Given the description of an element on the screen output the (x, y) to click on. 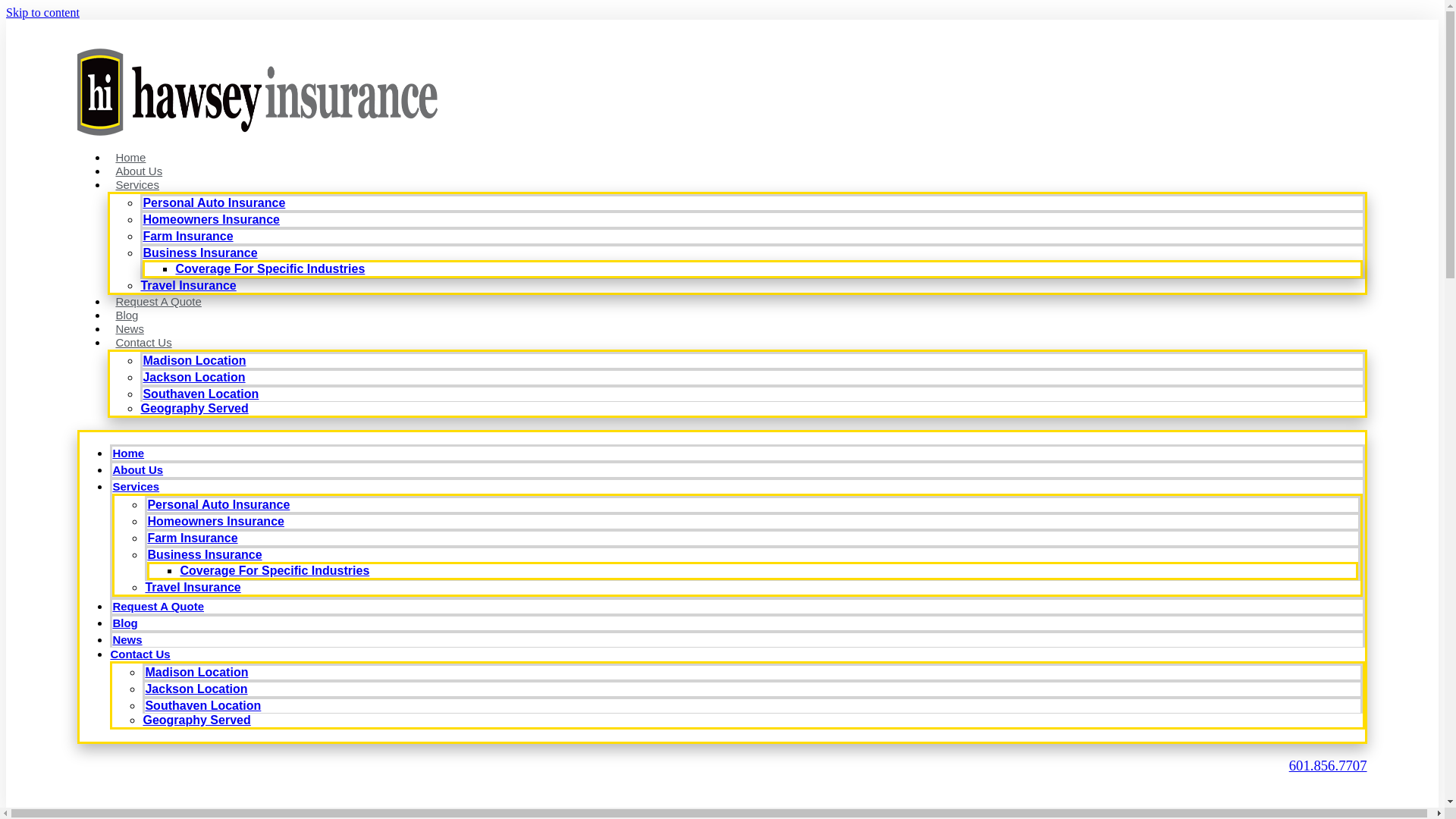
Blog (124, 622)
About Us (137, 469)
601.856.7707 (1327, 765)
Services (137, 184)
Madison Location (195, 671)
About Us (138, 171)
Blog (126, 315)
Farm Insurance (192, 537)
Southaven Location (200, 393)
Coverage For Specific Industries (274, 570)
